Given the description of an element on the screen output the (x, y) to click on. 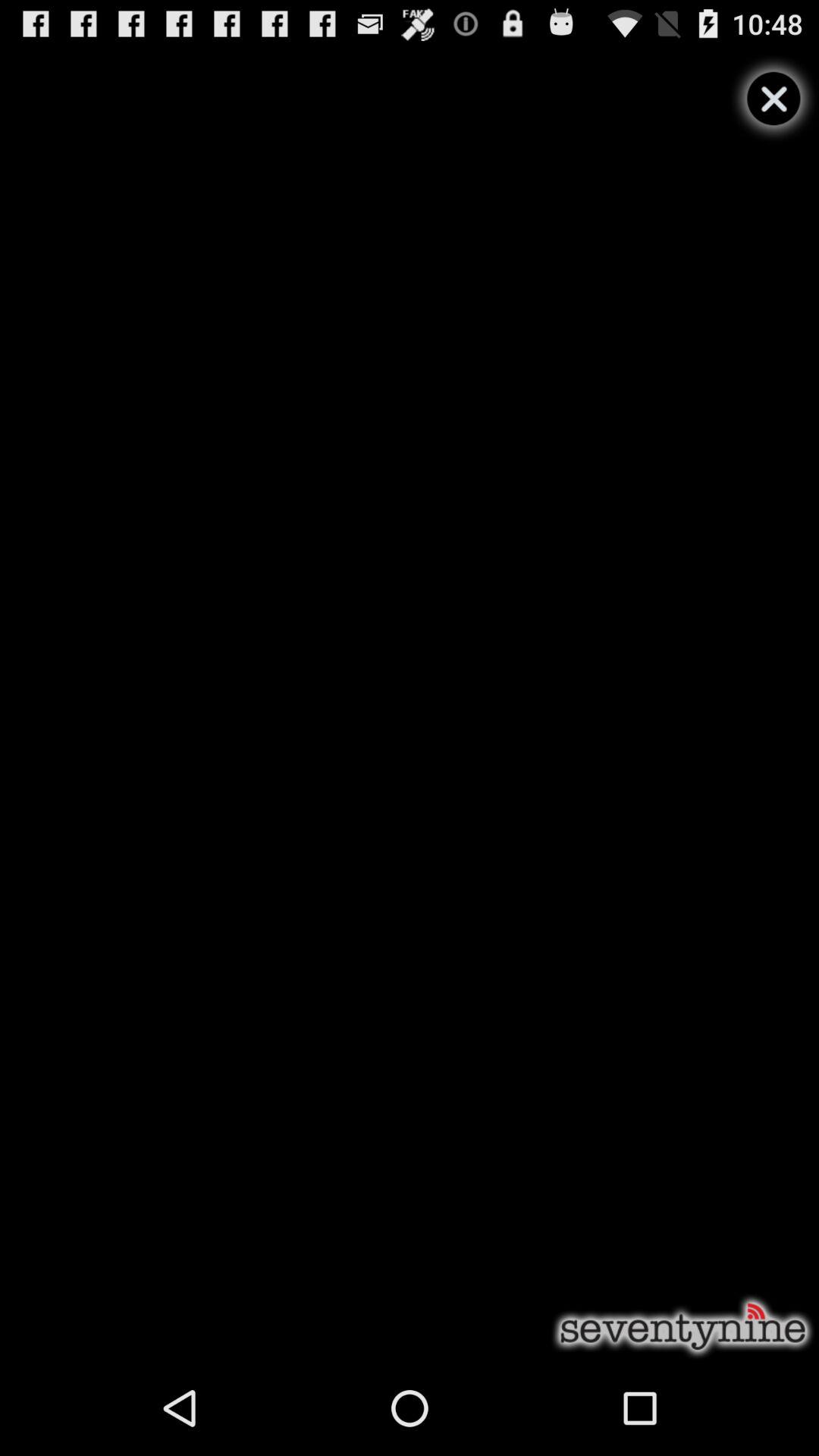
cancel (773, 98)
